Given the description of an element on the screen output the (x, y) to click on. 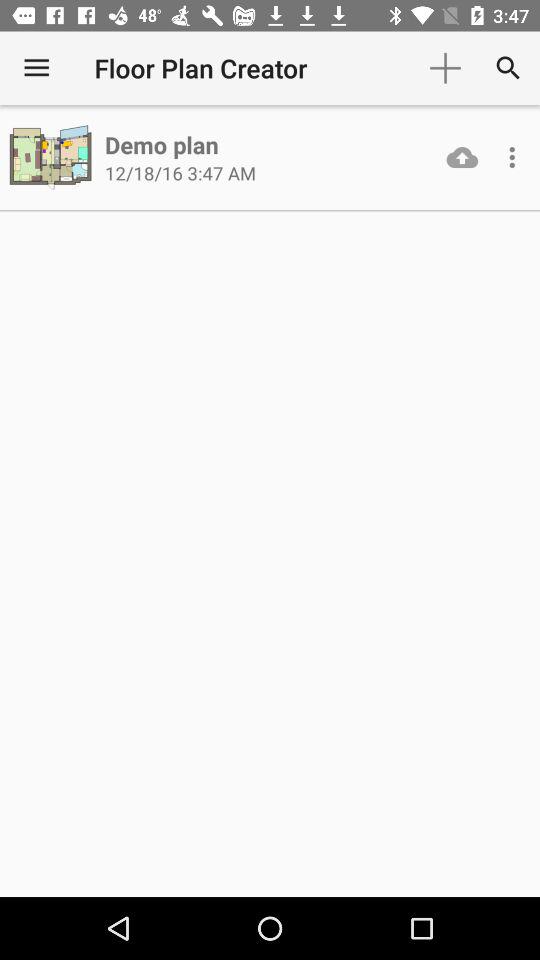
select the icon to the left of floor plan creator item (36, 68)
